Given the description of an element on the screen output the (x, y) to click on. 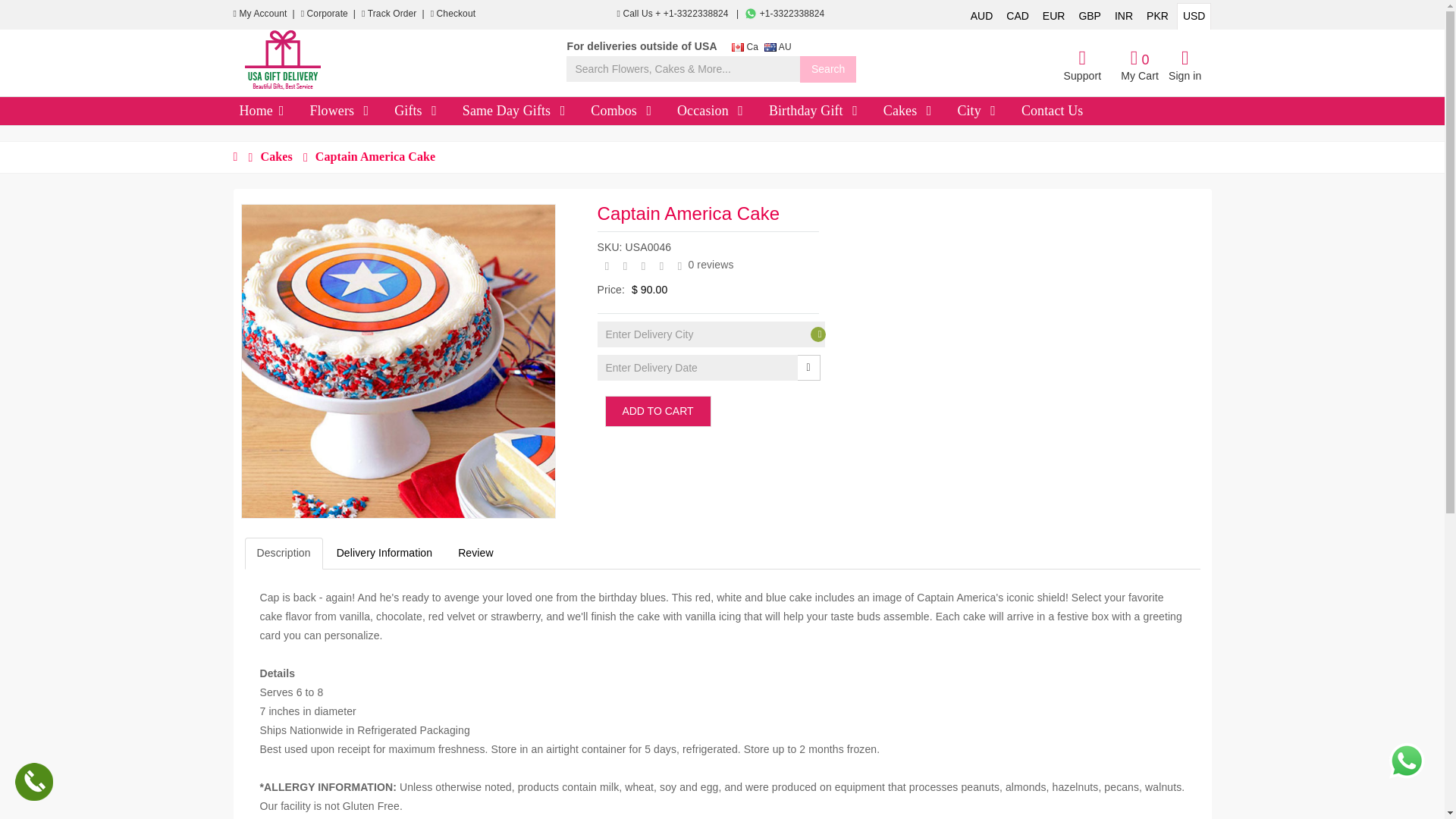
Customer Support (1081, 66)
Combos (649, 110)
City (992, 110)
Captain America Cake (397, 360)
Occasion (740, 110)
Search (827, 69)
My account (263, 13)
Cakes (928, 110)
Gifts (433, 110)
Home (281, 110)
Same Day Gifts (563, 110)
Shopping cart (1139, 66)
Flowers (366, 110)
My account (1185, 66)
Birthday Gift (854, 110)
